Given the description of an element on the screen output the (x, y) to click on. 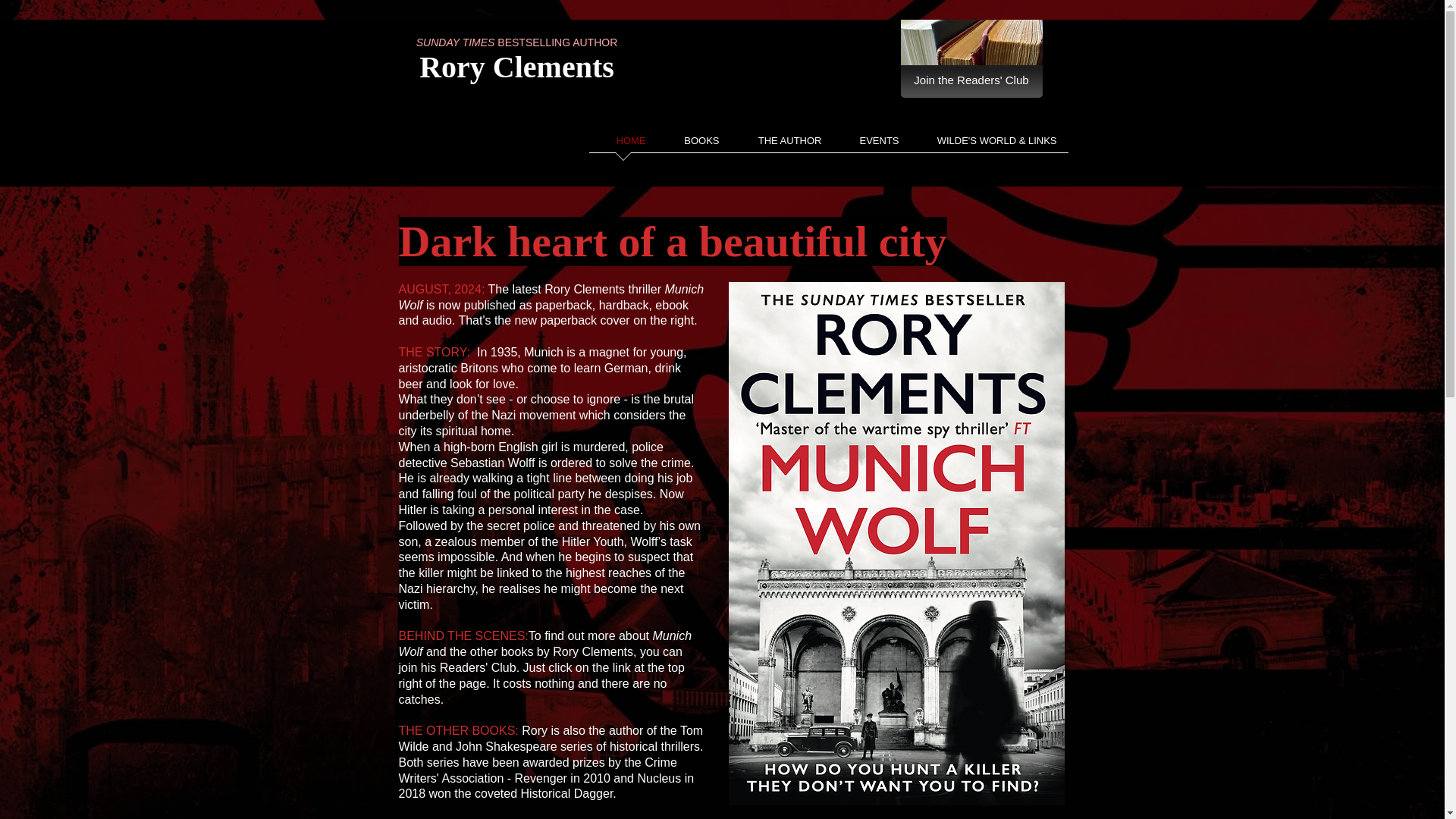
BOOKS (693, 145)
Join the Readers' Club (971, 79)
THE AUTHOR (781, 145)
Rory Clements (516, 66)
EVENTS (871, 145)
HOME (622, 145)
